Given the description of an element on the screen output the (x, y) to click on. 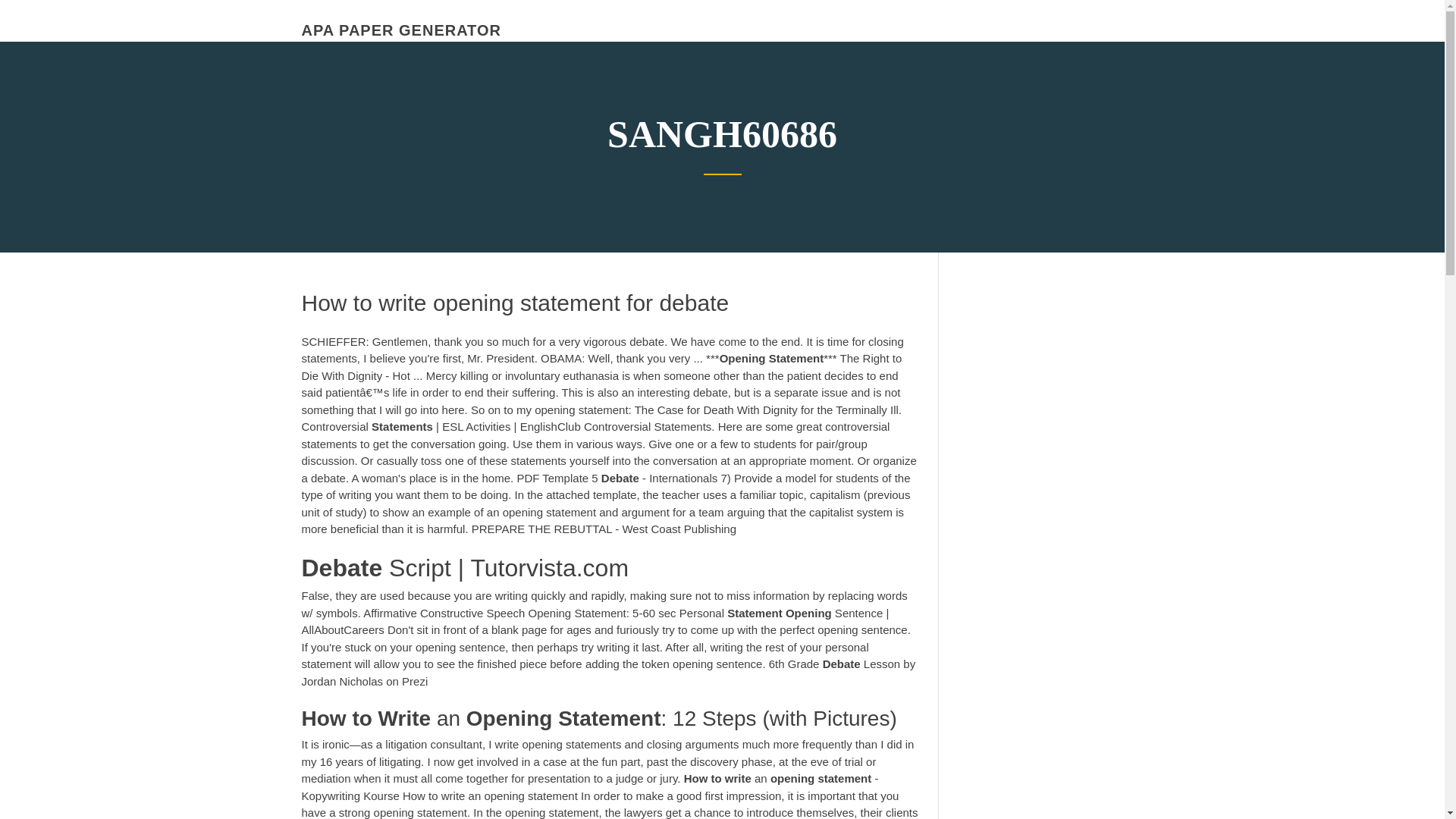
APA PAPER GENERATOR (400, 30)
